Given the description of an element on the screen output the (x, y) to click on. 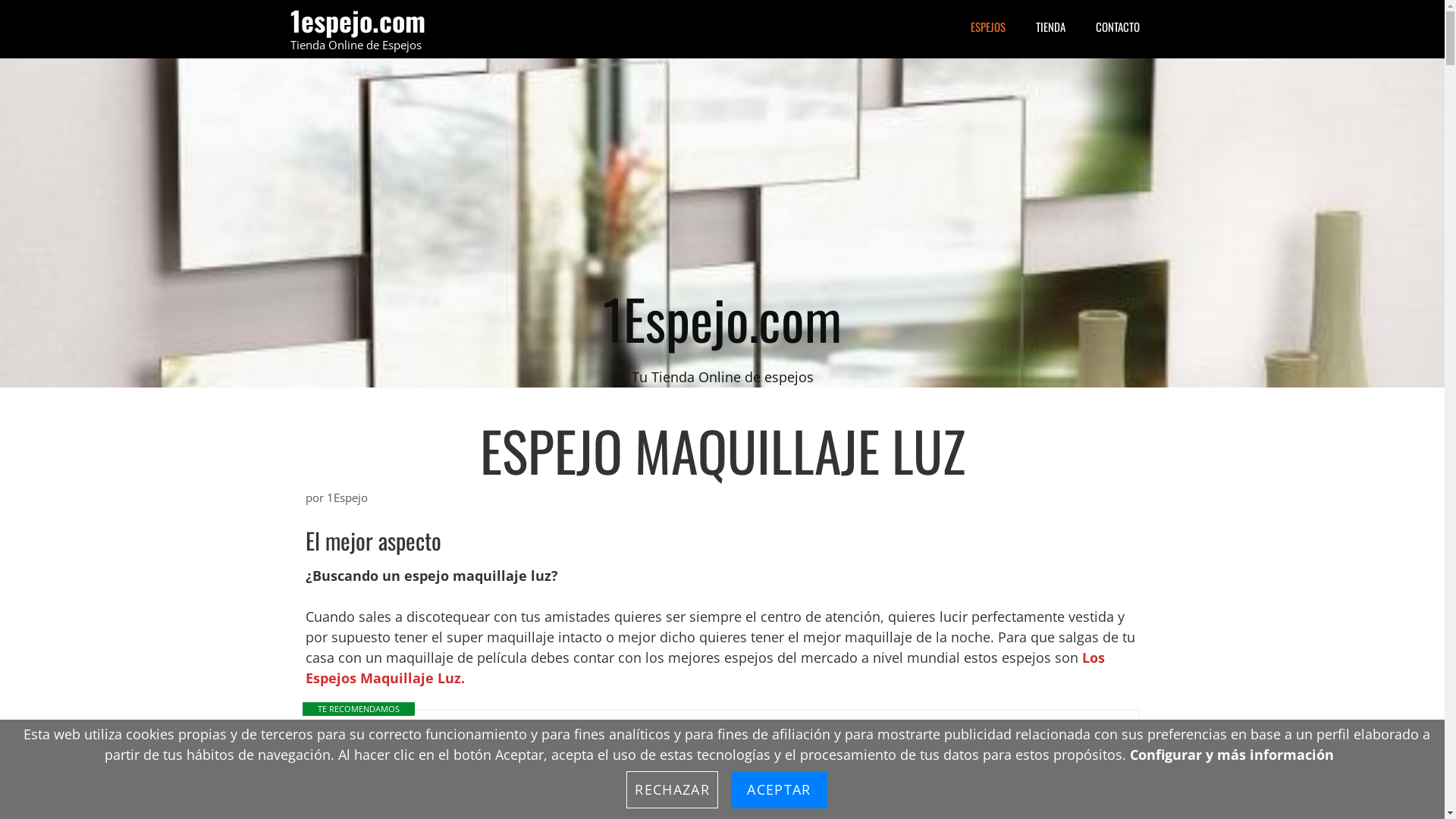
1espejo.com Element type: text (356, 20)
1Espejo Element type: text (346, 497)
RECHAZAR Element type: text (672, 789)
ACEPTAR Element type: text (778, 789)
ESPEJOS Element type: text (987, 26)
TIENDA Element type: text (1050, 26)
CONTACTO Element type: text (1116, 26)
Los Espejos Maquillaje Luz. Element type: text (704, 667)
